Given the description of an element on the screen output the (x, y) to click on. 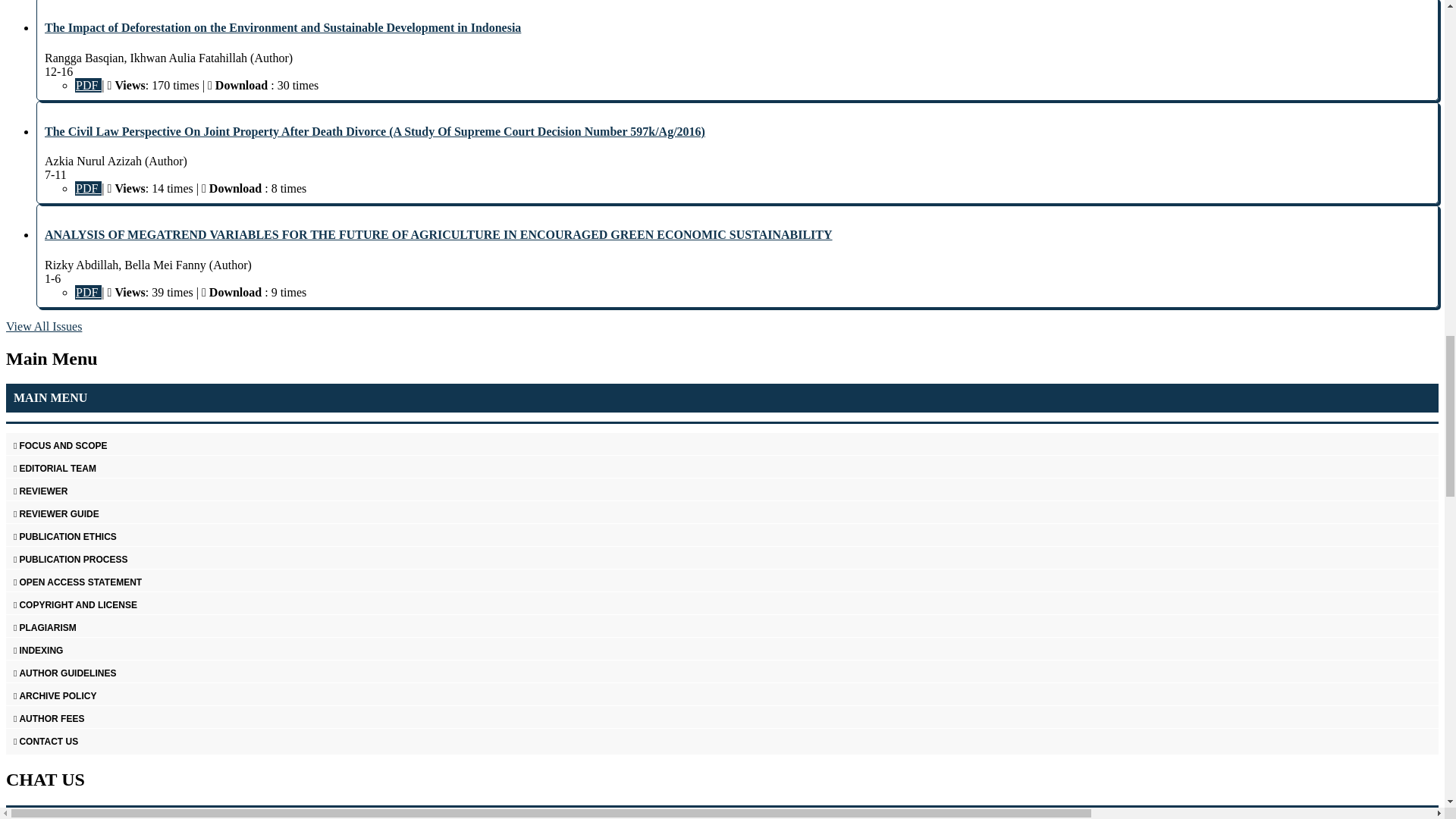
MAIN MENU (721, 398)
PDF (88, 292)
View All Issues (43, 326)
 EDITORIAL TEAM (721, 468)
 REVIEWER (721, 490)
PDF (88, 187)
PDF (88, 84)
 FOCUS AND SCOPE (721, 445)
